Given the description of an element on the screen output the (x, y) to click on. 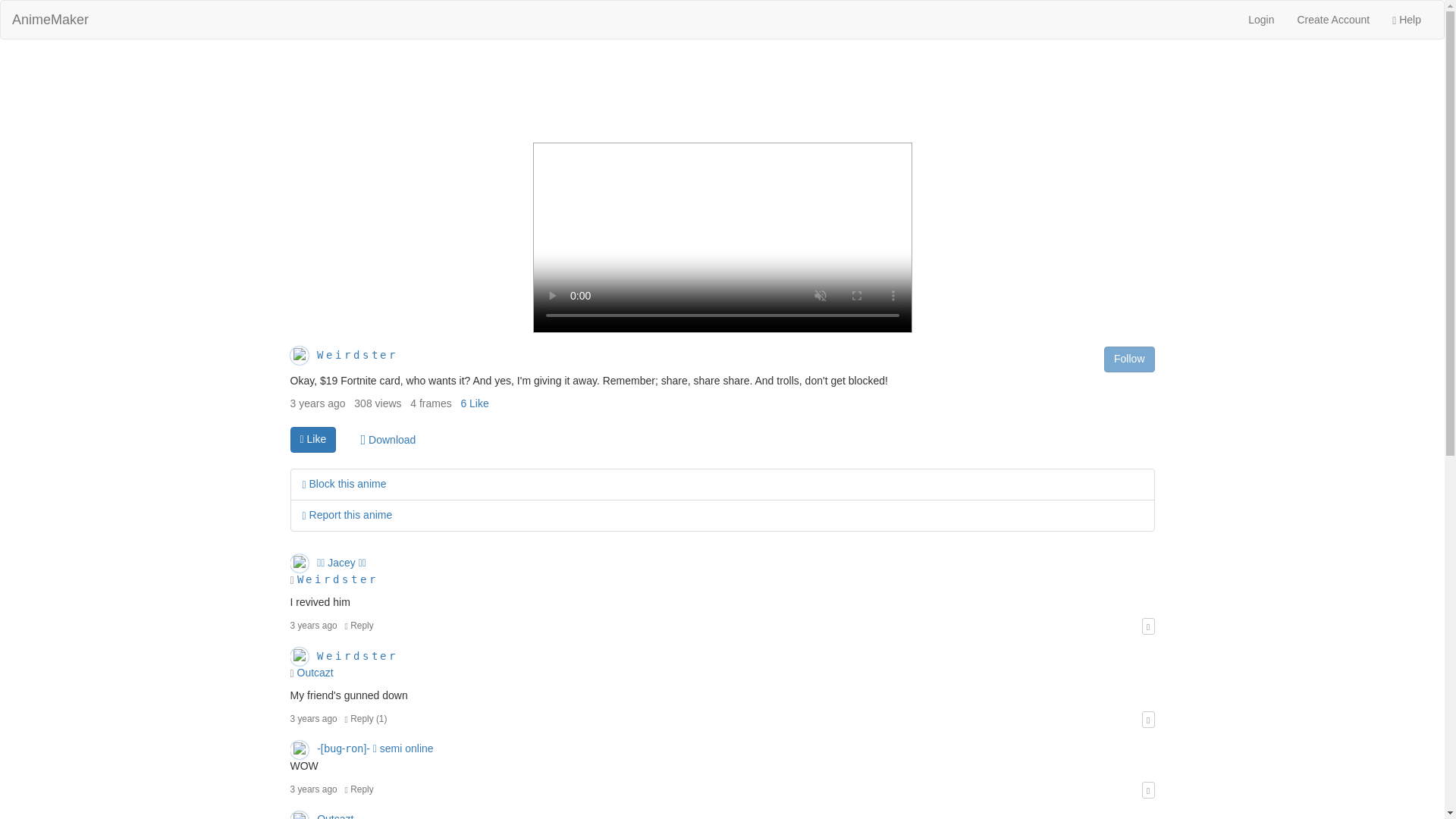
Login (1260, 19)
  Outcazt (321, 816)
Block this anime (343, 483)
Help (1406, 19)
Reply (359, 624)
Reply (359, 788)
Outcazt (315, 672)
Create Account (1332, 19)
Download (388, 439)
6 Like (473, 403)
Follow (1128, 359)
AnimeMaker (50, 19)
Follow (1128, 359)
Report this anime (346, 514)
